Given the description of an element on the screen output the (x, y) to click on. 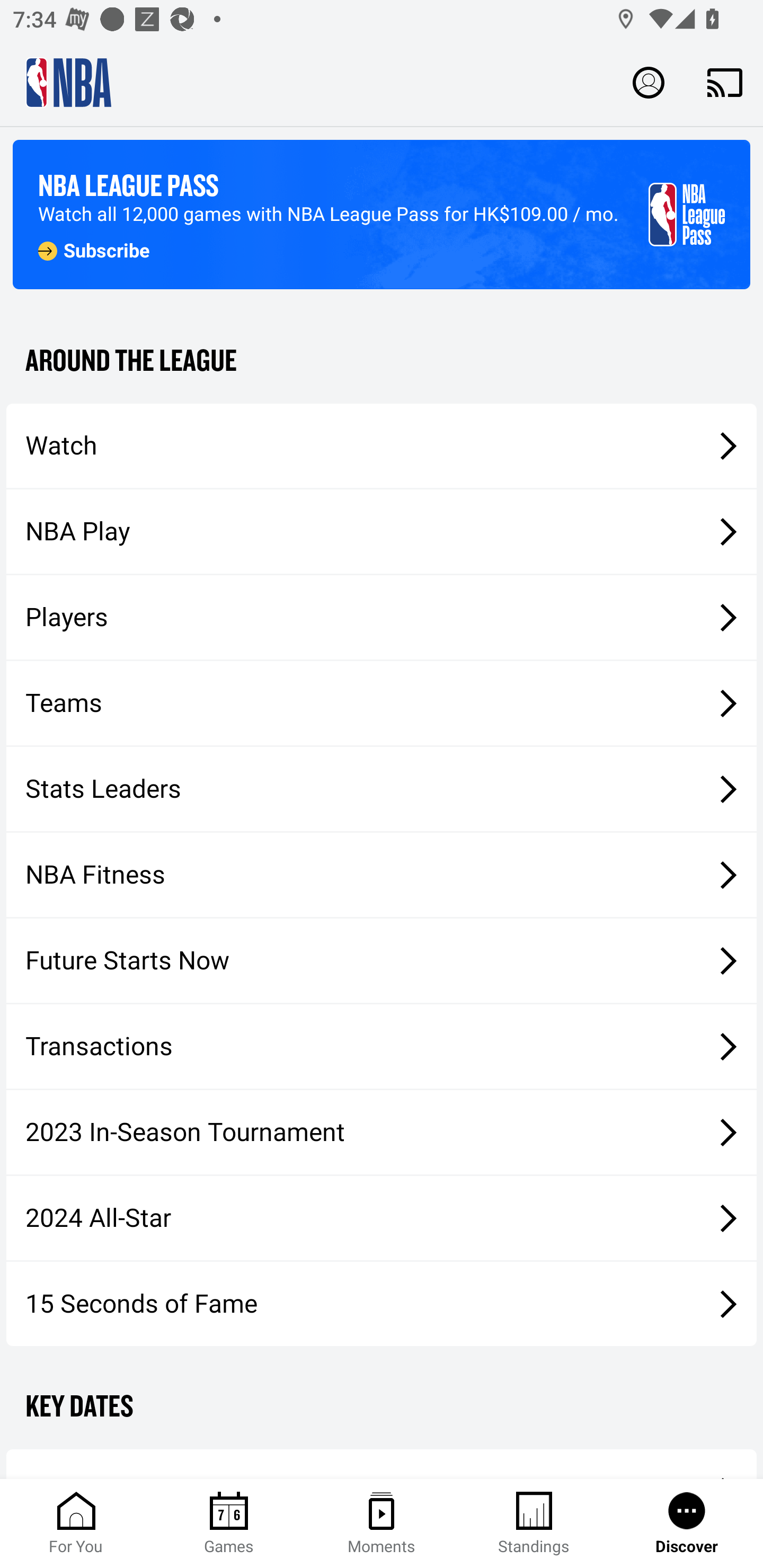
Cast. Disconnected (724, 82)
Profile (648, 81)
Watch (381, 444)
NBA Play (381, 531)
Players (381, 617)
Teams (381, 702)
Stats Leaders (381, 788)
NBA Fitness (381, 874)
Future Starts Now (381, 960)
Transactions (381, 1046)
2023 In-Season Tournament (381, 1131)
2024 All-Star (381, 1218)
15 Seconds of Fame (381, 1303)
For You (76, 1523)
Games (228, 1523)
Moments (381, 1523)
Standings (533, 1523)
